Given the description of an element on the screen output the (x, y) to click on. 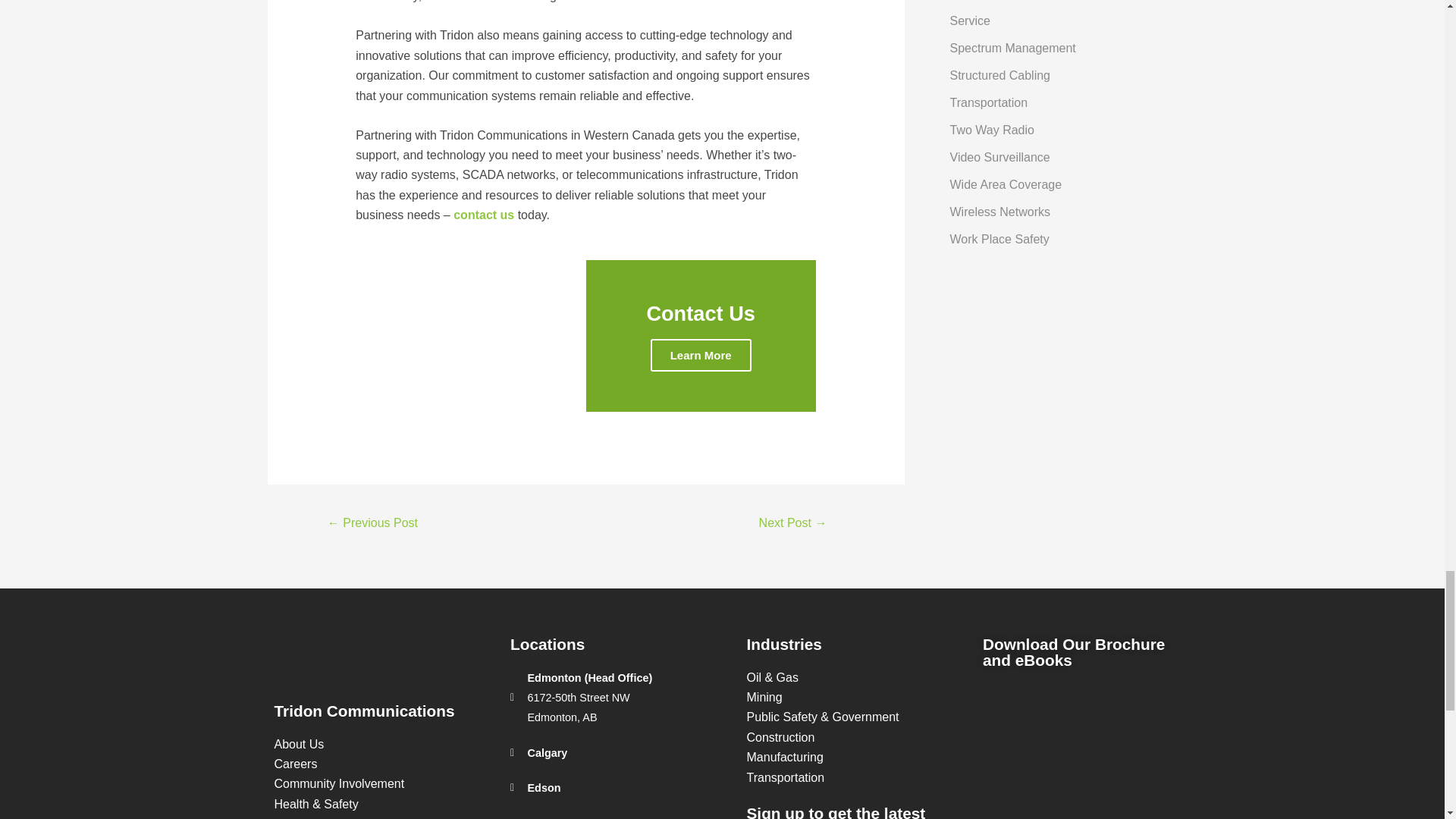
Choosing the Right Two-Way Radios for Farming (792, 524)
Dome Camera Placement Strategies (371, 524)
